Given the description of an element on the screen output the (x, y) to click on. 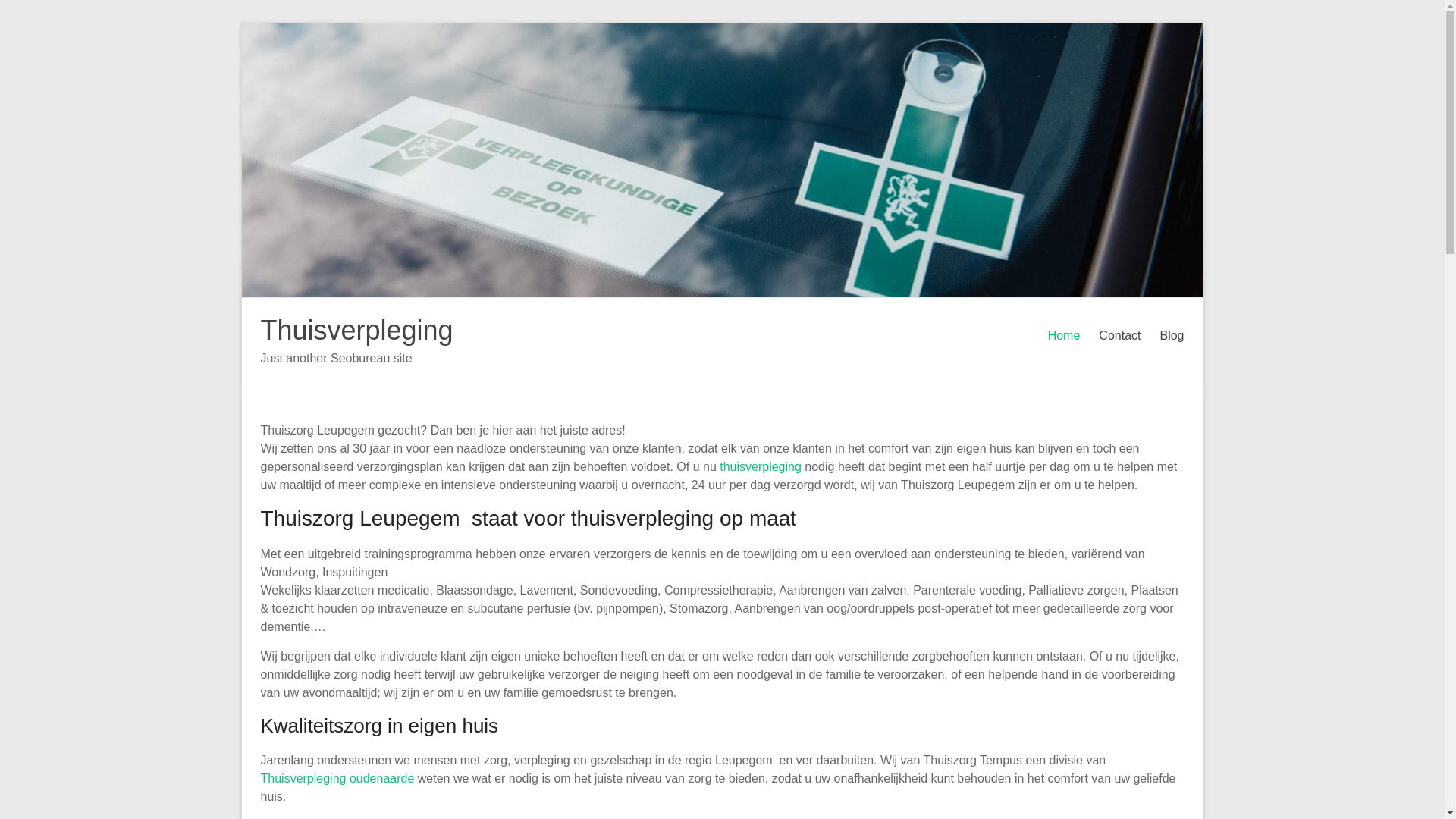
Blog Element type: text (1171, 335)
Thuisverpleging oudenaarde Element type: text (337, 777)
Home Element type: text (1064, 335)
thuisverpleging Element type: text (760, 466)
Contact Element type: text (1119, 335)
Thuisverpleging Element type: text (356, 329)
Ga naar inhoud Element type: text (241, 21)
